Given the description of an element on the screen output the (x, y) to click on. 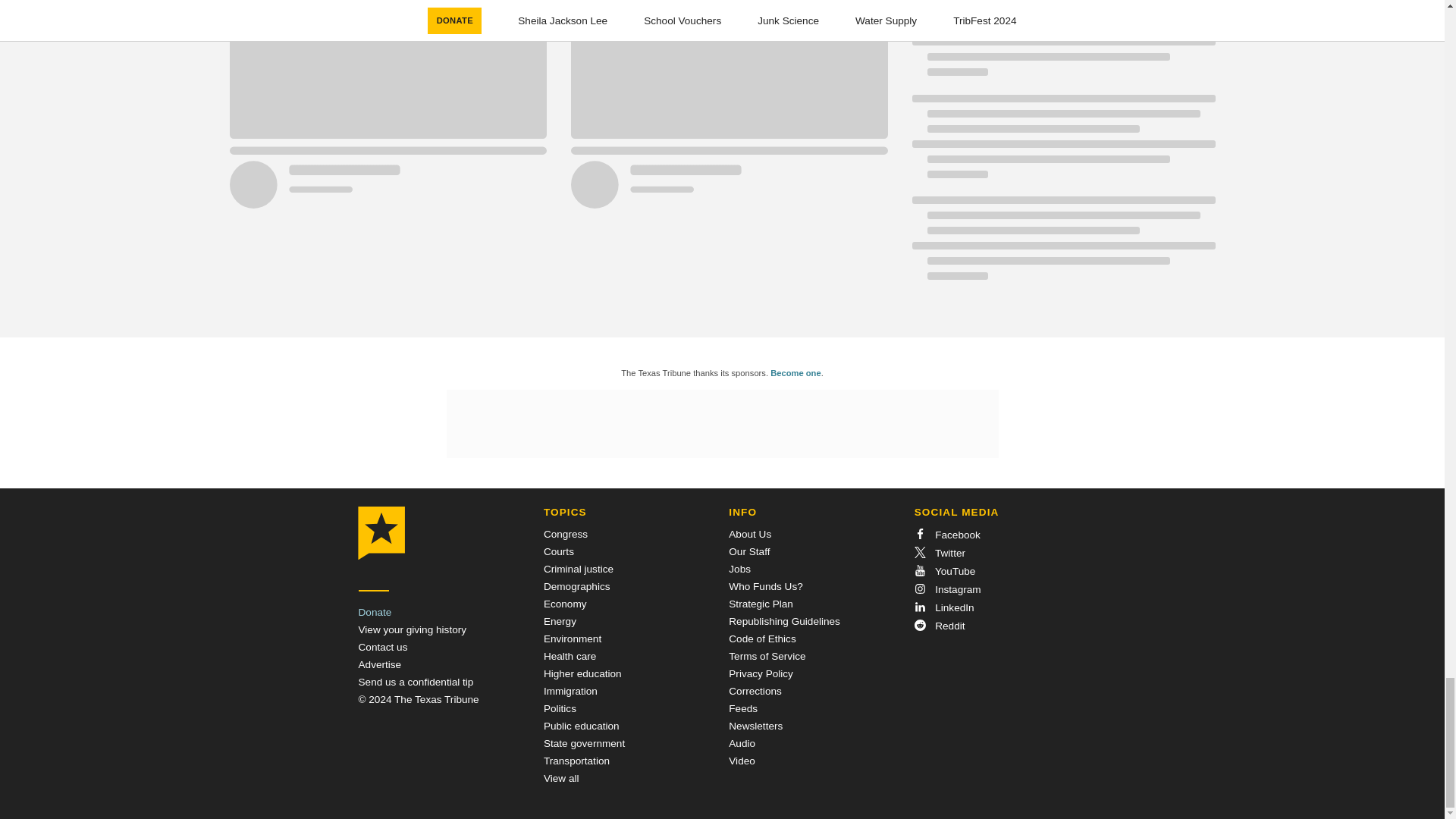
Who Funds Us? (765, 586)
Strategic Plan (761, 603)
View your giving history (411, 629)
Audio (742, 743)
Contact us (382, 646)
Republishing Guidelines (784, 621)
Terms of Service (767, 655)
Send a Tip (415, 681)
Advertise (379, 664)
Corrections (755, 690)
About Us (750, 533)
Code of Ethics (761, 638)
Feeds (743, 708)
Donate (374, 612)
Privacy Policy (761, 673)
